Given the description of an element on the screen output the (x, y) to click on. 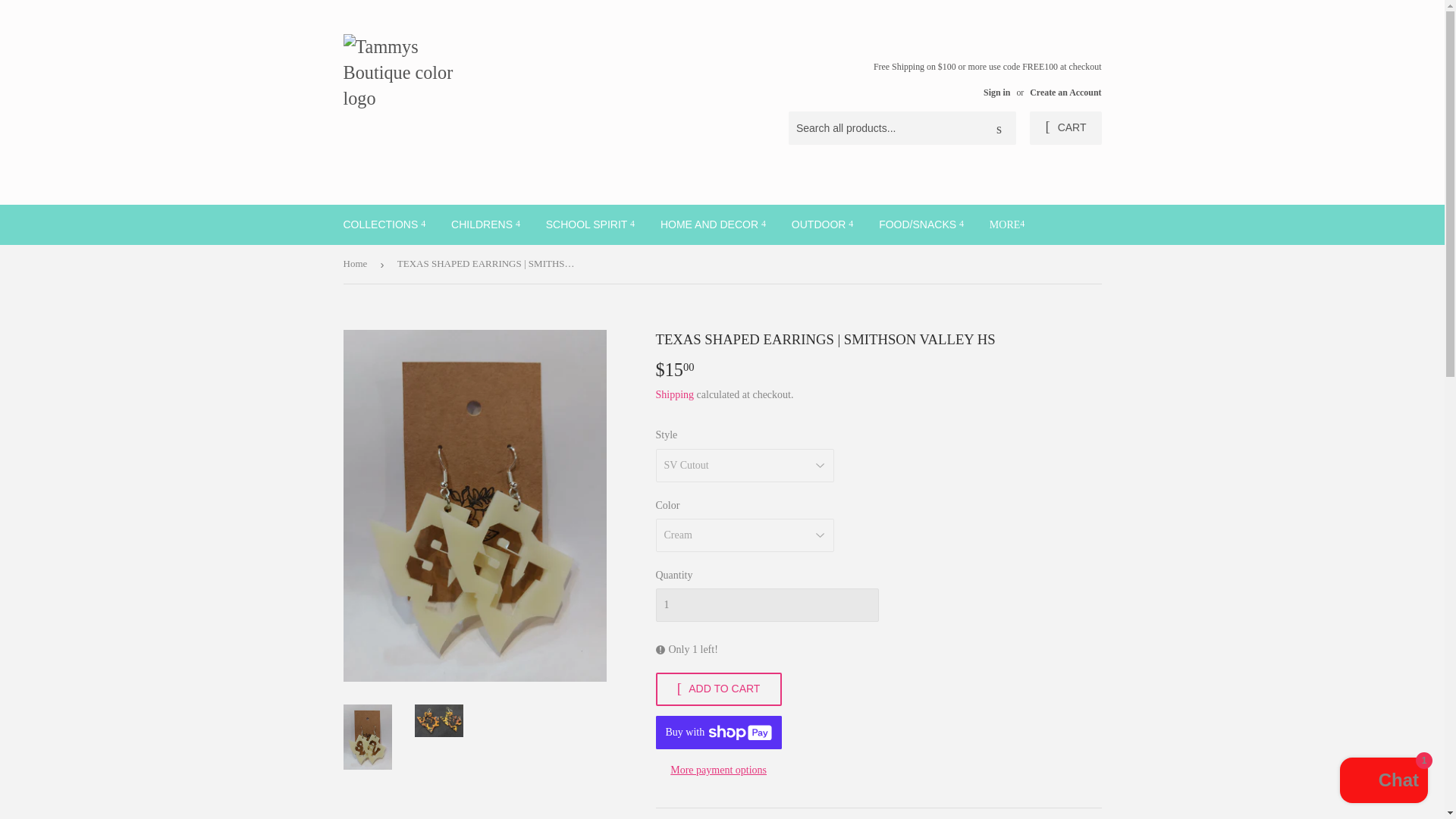
Create an Account (1064, 91)
Sign in (997, 91)
Search (998, 128)
CART (1064, 127)
1 (766, 604)
Shopify online store chat (1383, 781)
